Given the description of an element on the screen output the (x, y) to click on. 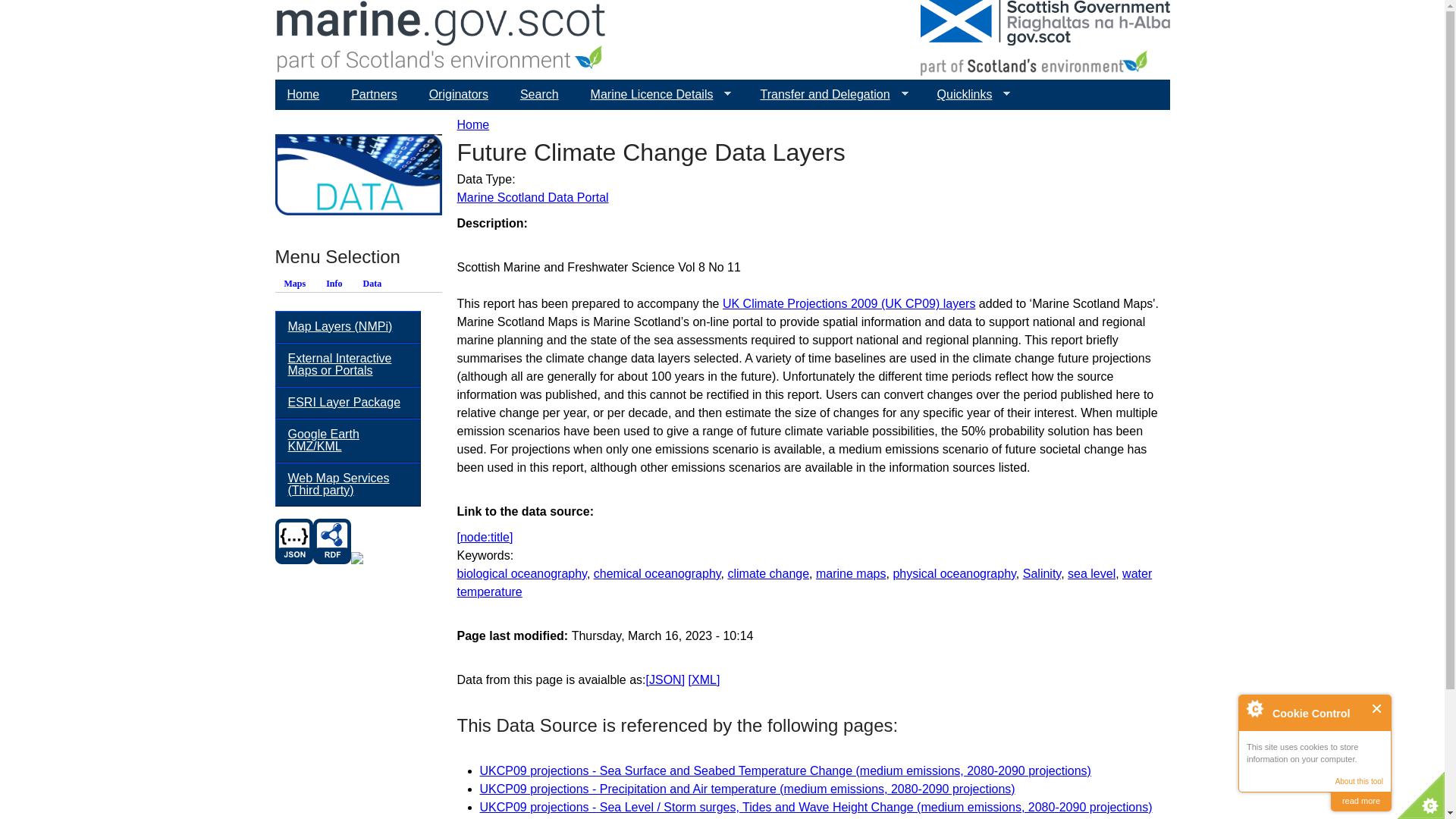
Map Services (347, 484)
NMPi (347, 327)
Marine Scotland Data Portal (532, 196)
read more (1360, 801)
ESRI Layer Package (347, 402)
sea level (1091, 573)
marine maps (850, 573)
Close (1377, 708)
Salinity (1042, 573)
Home (473, 124)
